Given the description of an element on the screen output the (x, y) to click on. 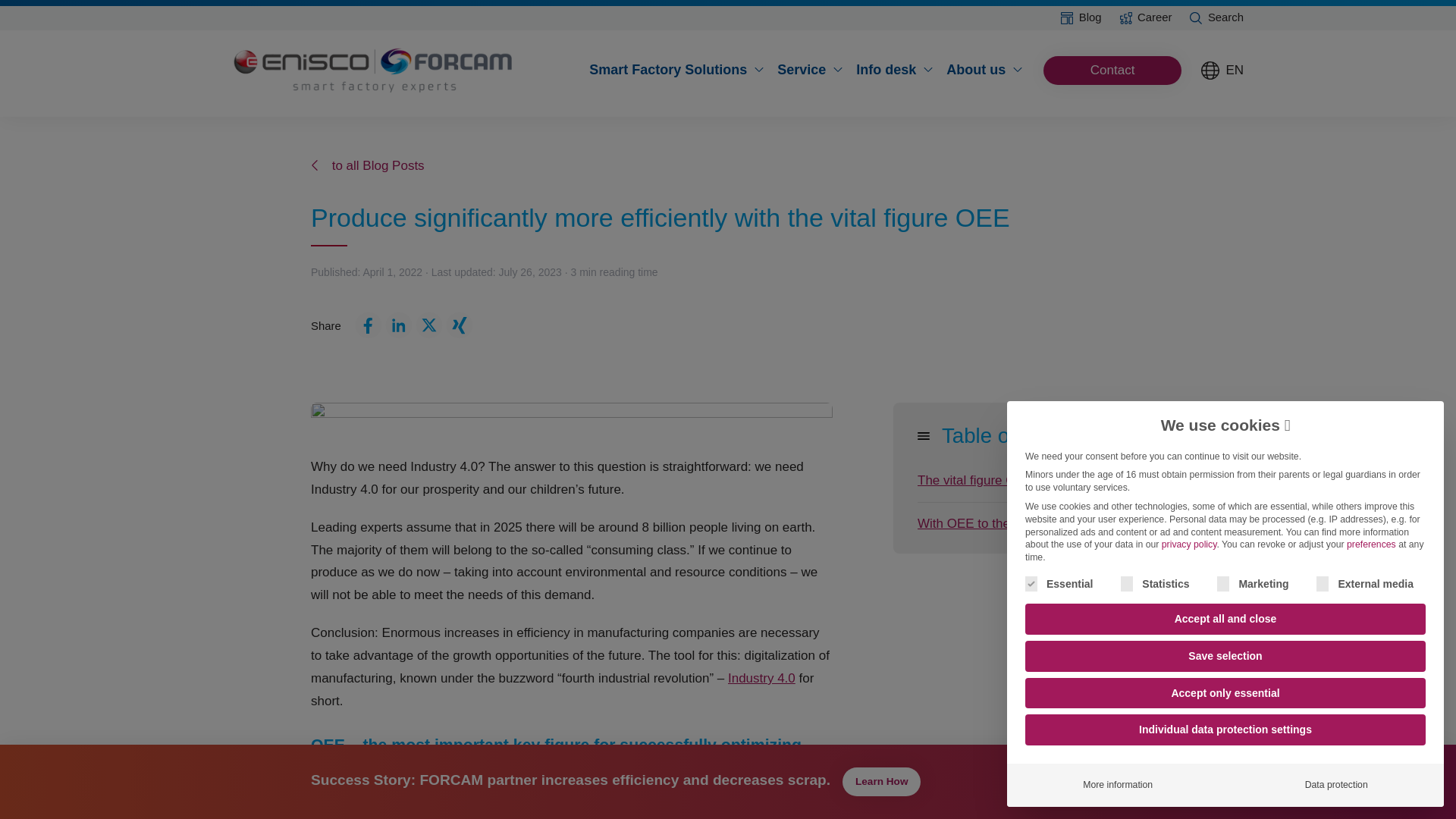
The vital figure OEE (1028, 480)
Career (1140, 17)
Contact (1112, 70)
Search (1210, 17)
Blog (1074, 17)
Zur Startseite (374, 70)
With OEE to the Factory Work 4.0 (1028, 523)
